Given the description of an element on the screen output the (x, y) to click on. 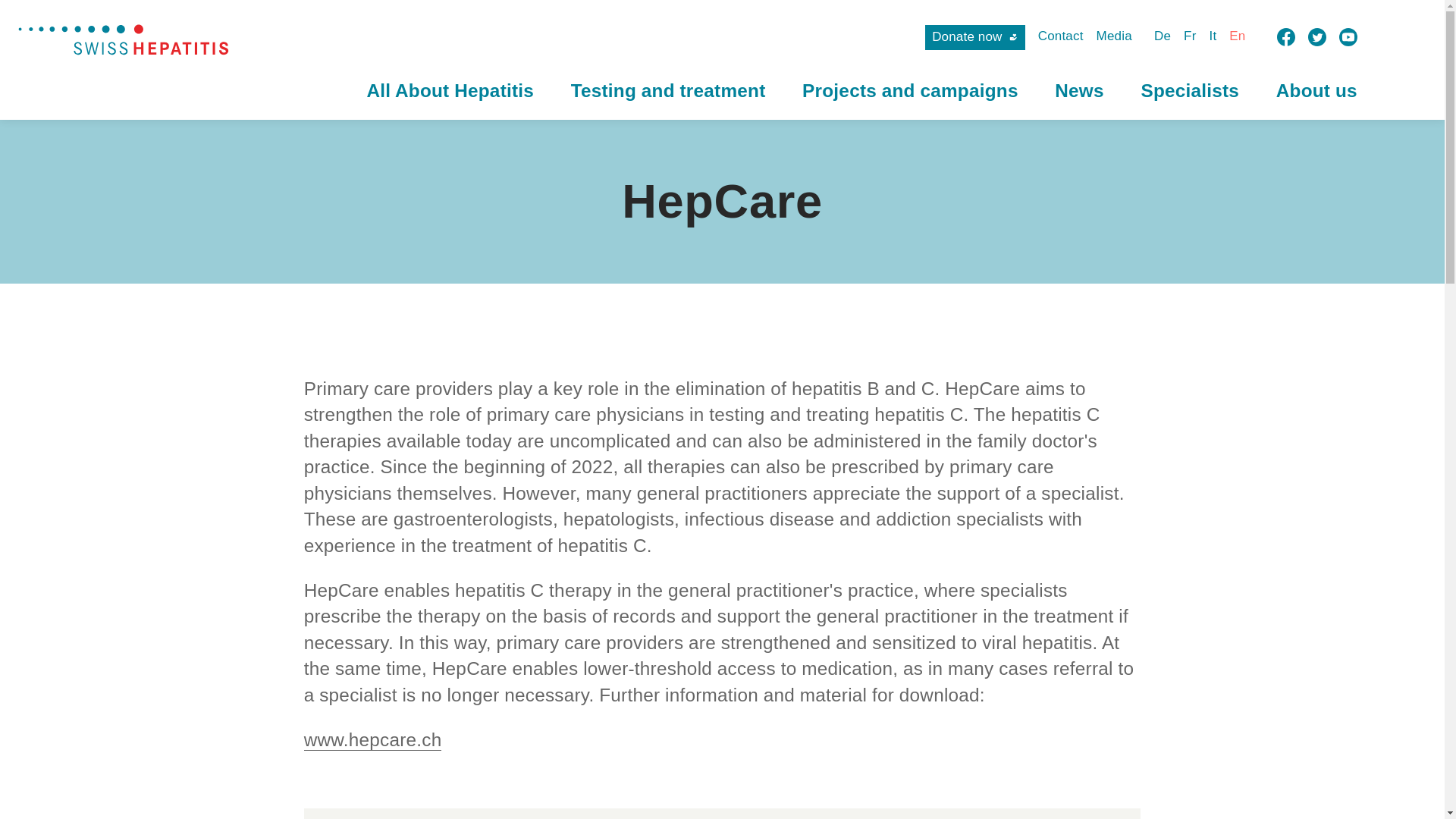
Donate now (974, 37)
Testing and treatment (667, 90)
de (1162, 35)
Donate now (974, 37)
News (1078, 90)
Projects and campaigns (909, 90)
en (1236, 35)
En (1236, 35)
Contact (1060, 35)
Media (1114, 35)
